Given the description of an element on the screen output the (x, y) to click on. 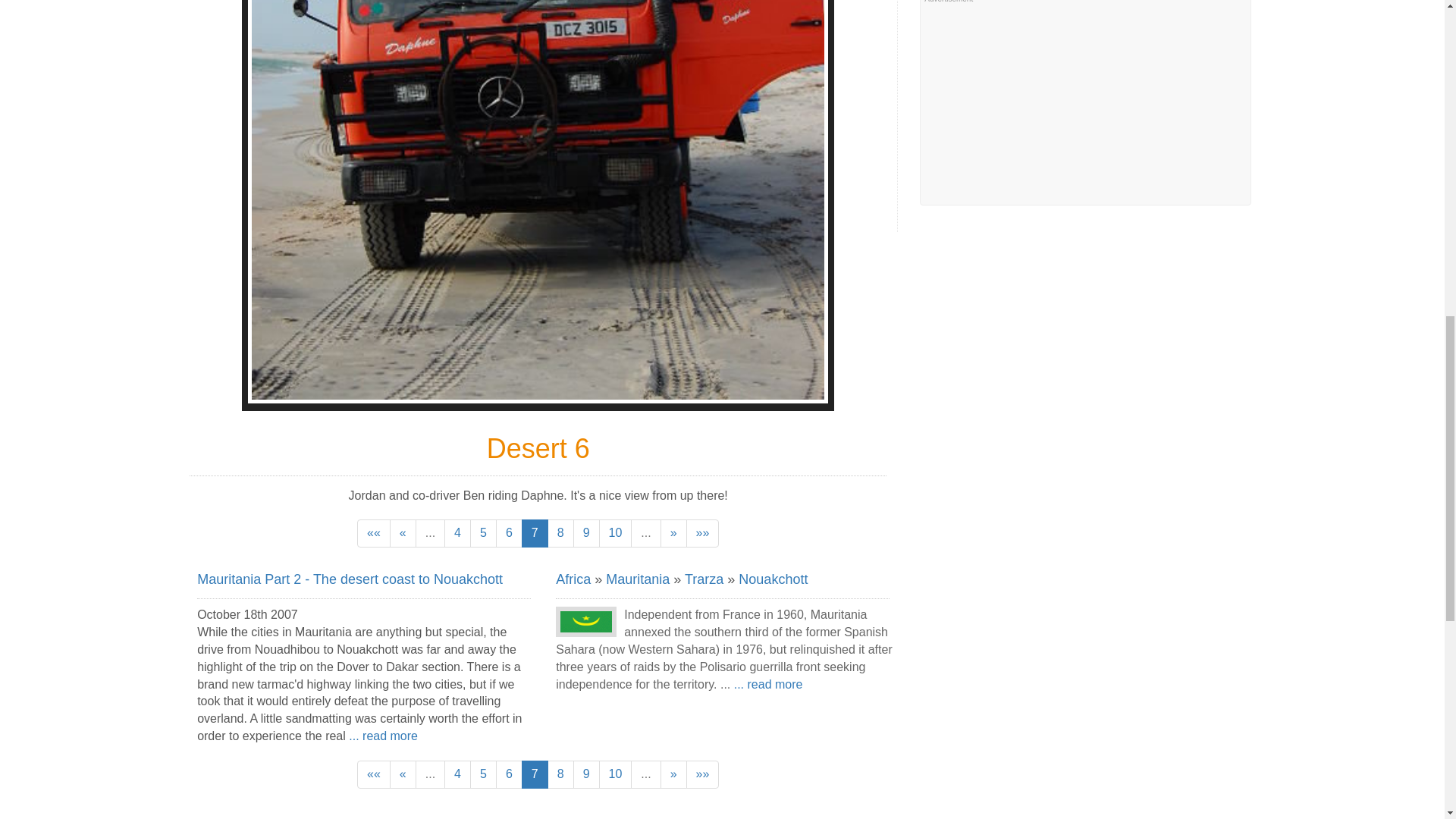
First (373, 533)
Previous (403, 533)
next (674, 533)
